Given the description of an element on the screen output the (x, y) to click on. 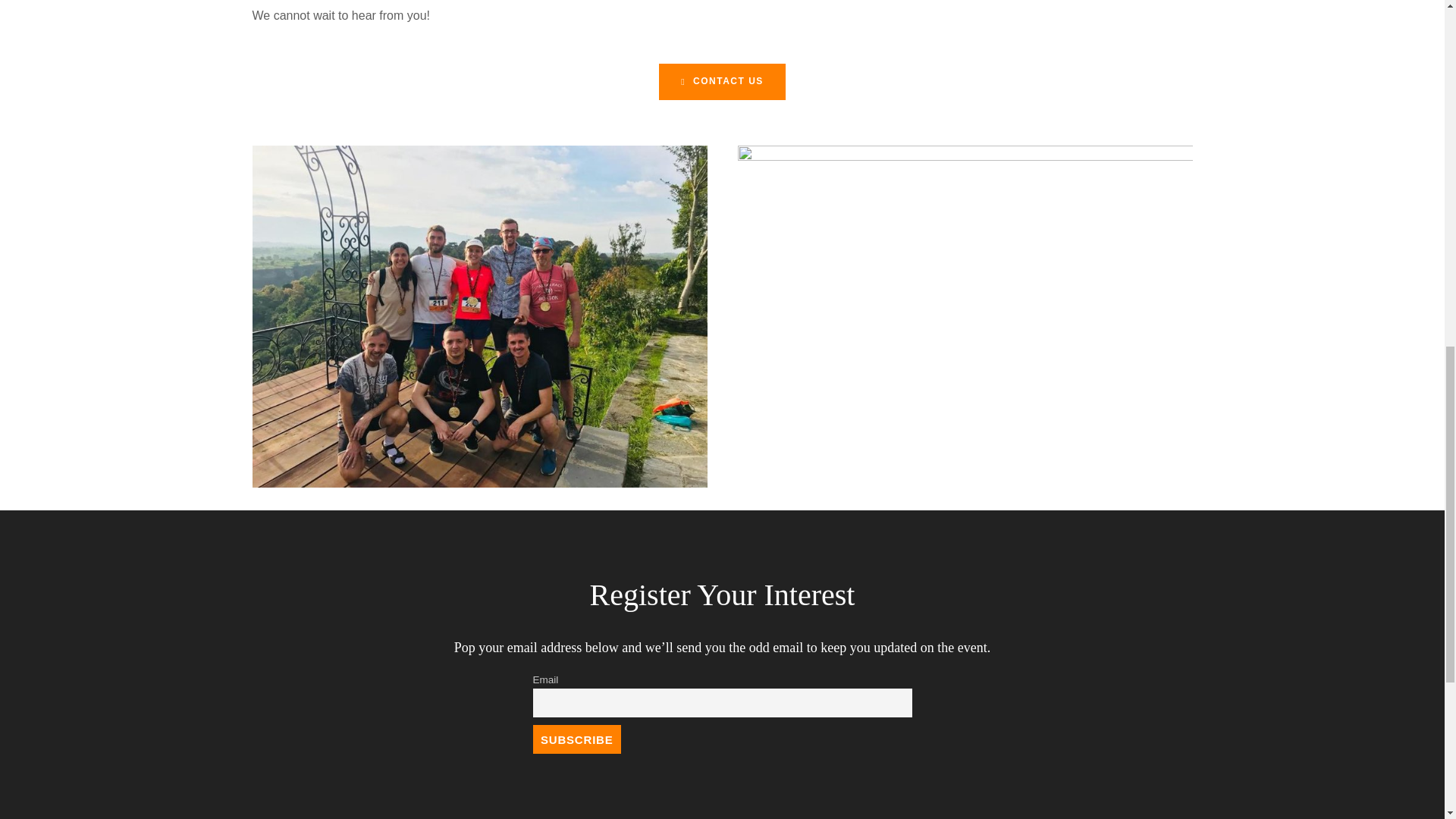
CONTACT US (722, 81)
Subscribe (576, 738)
Subscribe (576, 738)
